Given the description of an element on the screen output the (x, y) to click on. 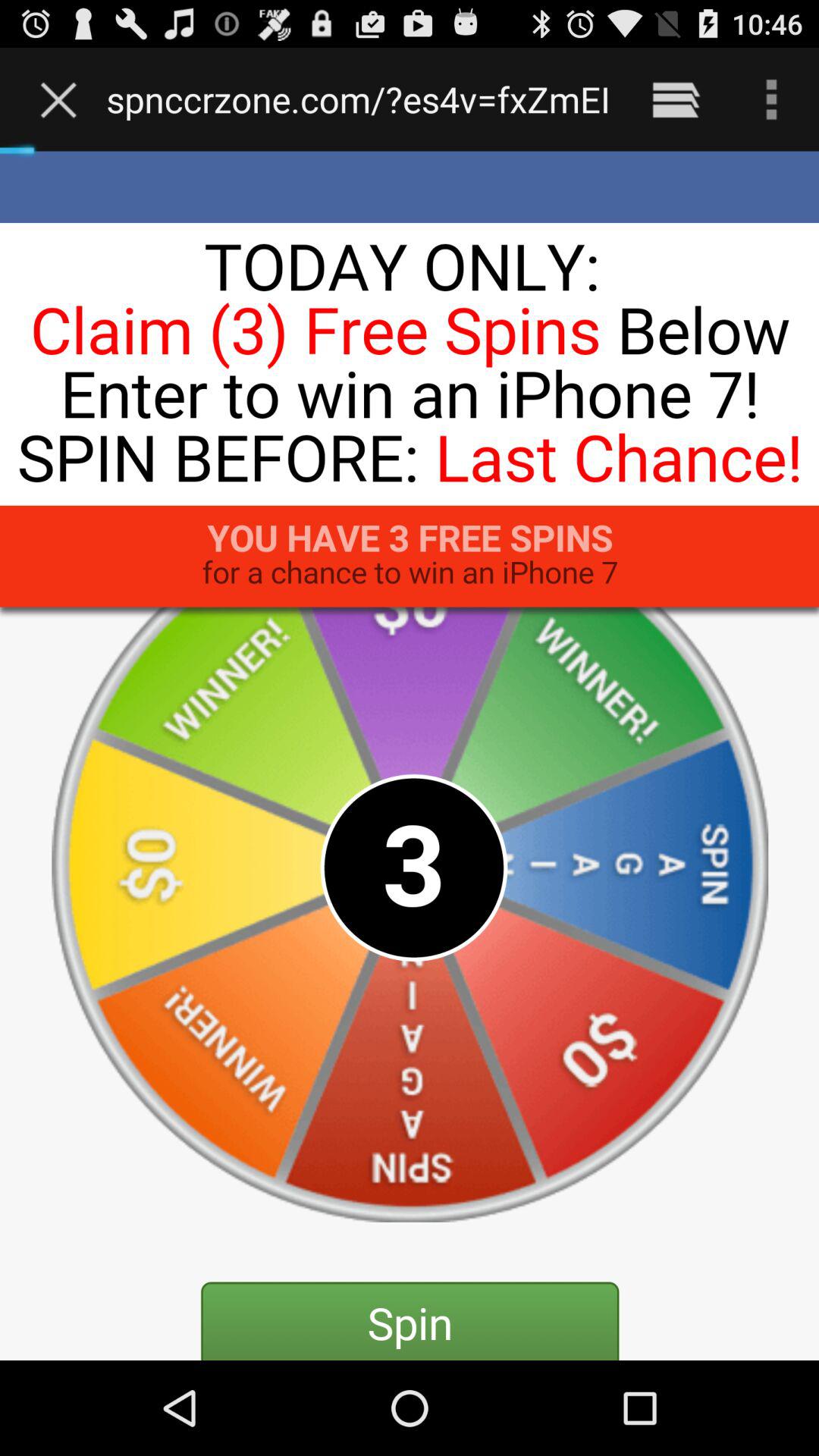
launch icon to the left of the www electronicproductzone com icon (62, 99)
